Given the description of an element on the screen output the (x, y) to click on. 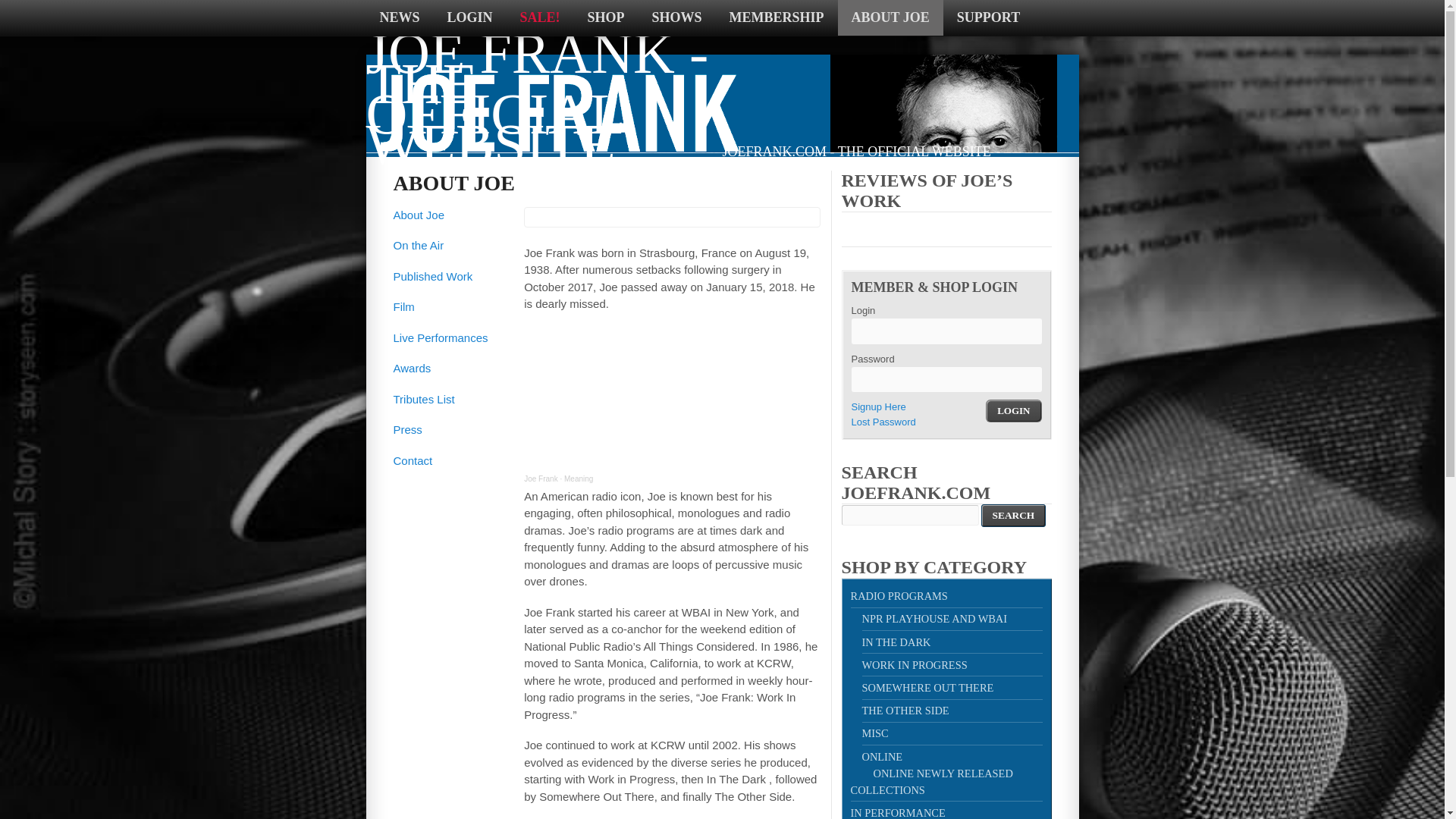
NEWS (398, 18)
Membership (777, 18)
SHOP (606, 18)
SUPPORT (988, 18)
SHOWS (677, 18)
LOGIN (469, 18)
Shop (606, 18)
MEMBERSHIP (777, 18)
Shows (677, 18)
ABOUT JOE (890, 18)
